Given the description of an element on the screen output the (x, y) to click on. 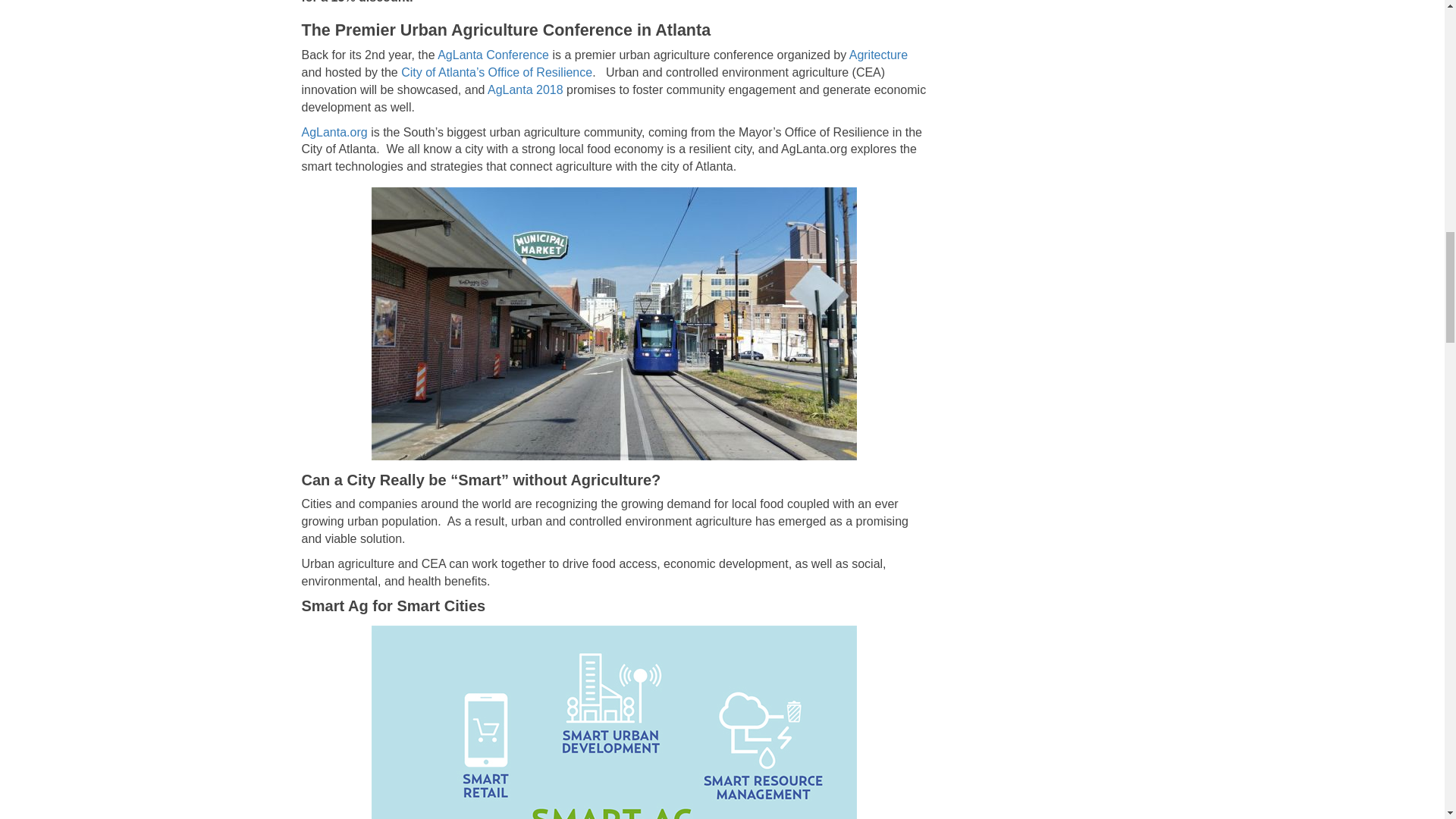
Agritecture (877, 54)
AgLanta 2018 (525, 89)
AgLanta Conference (493, 54)
AgLanta.org (334, 132)
